Given the description of an element on the screen output the (x, y) to click on. 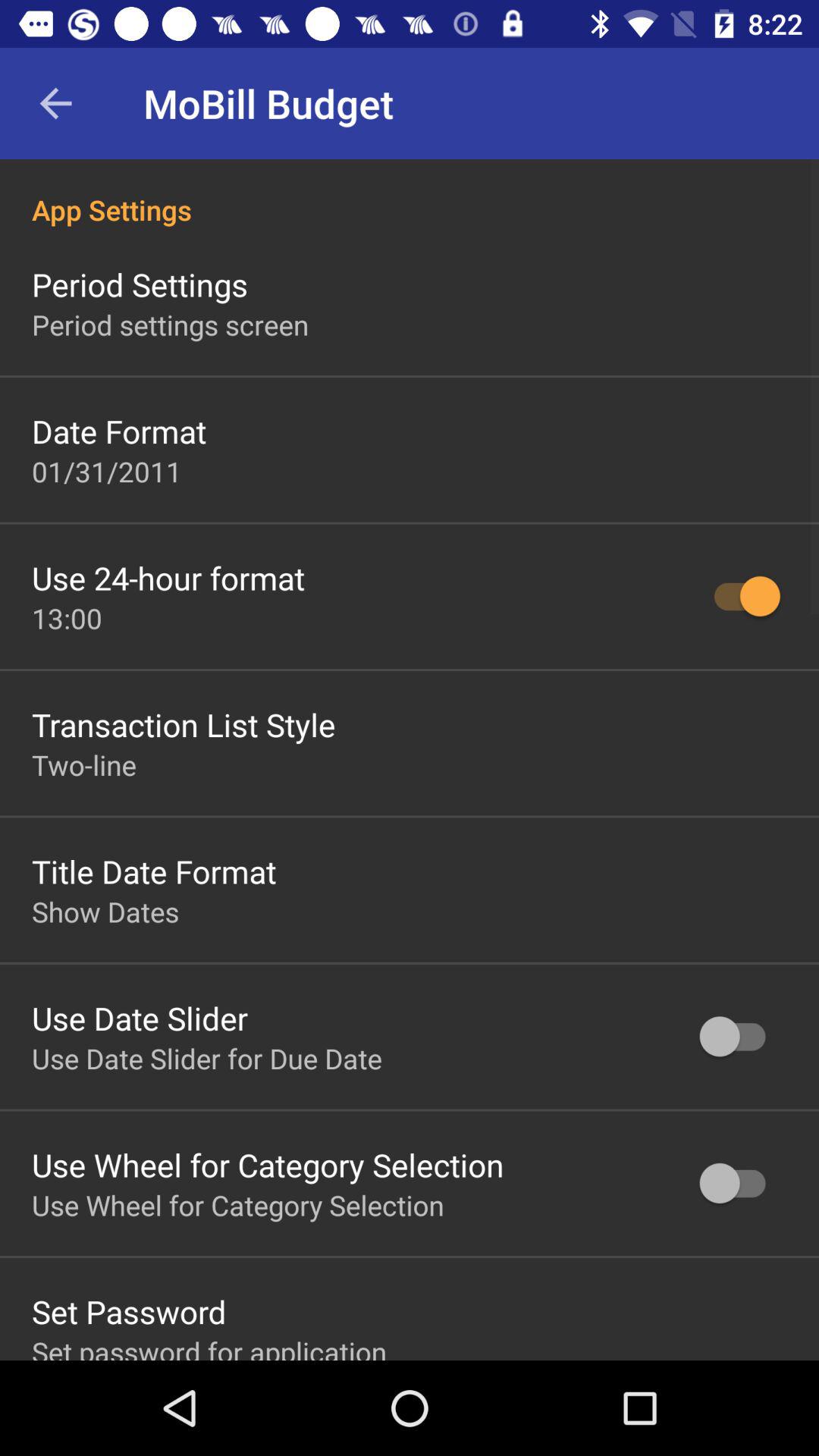
turn off two-line icon (83, 764)
